Given the description of an element on the screen output the (x, y) to click on. 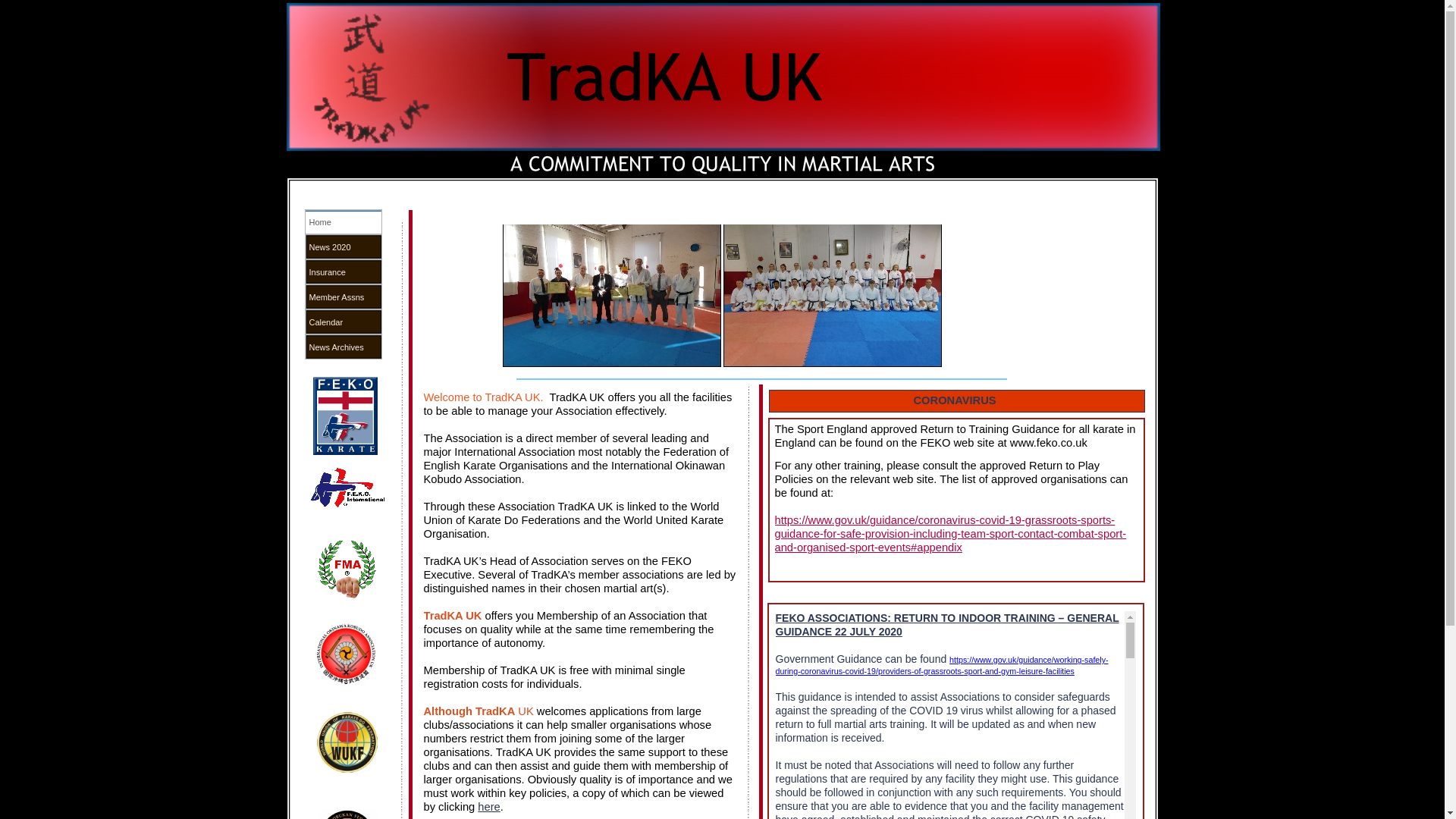
Home (342, 221)
Member Assns (342, 296)
News 2020 (342, 246)
Insurance (342, 271)
Calendar (342, 321)
here (488, 806)
News Archives (342, 346)
